Given the description of an element on the screen output the (x, y) to click on. 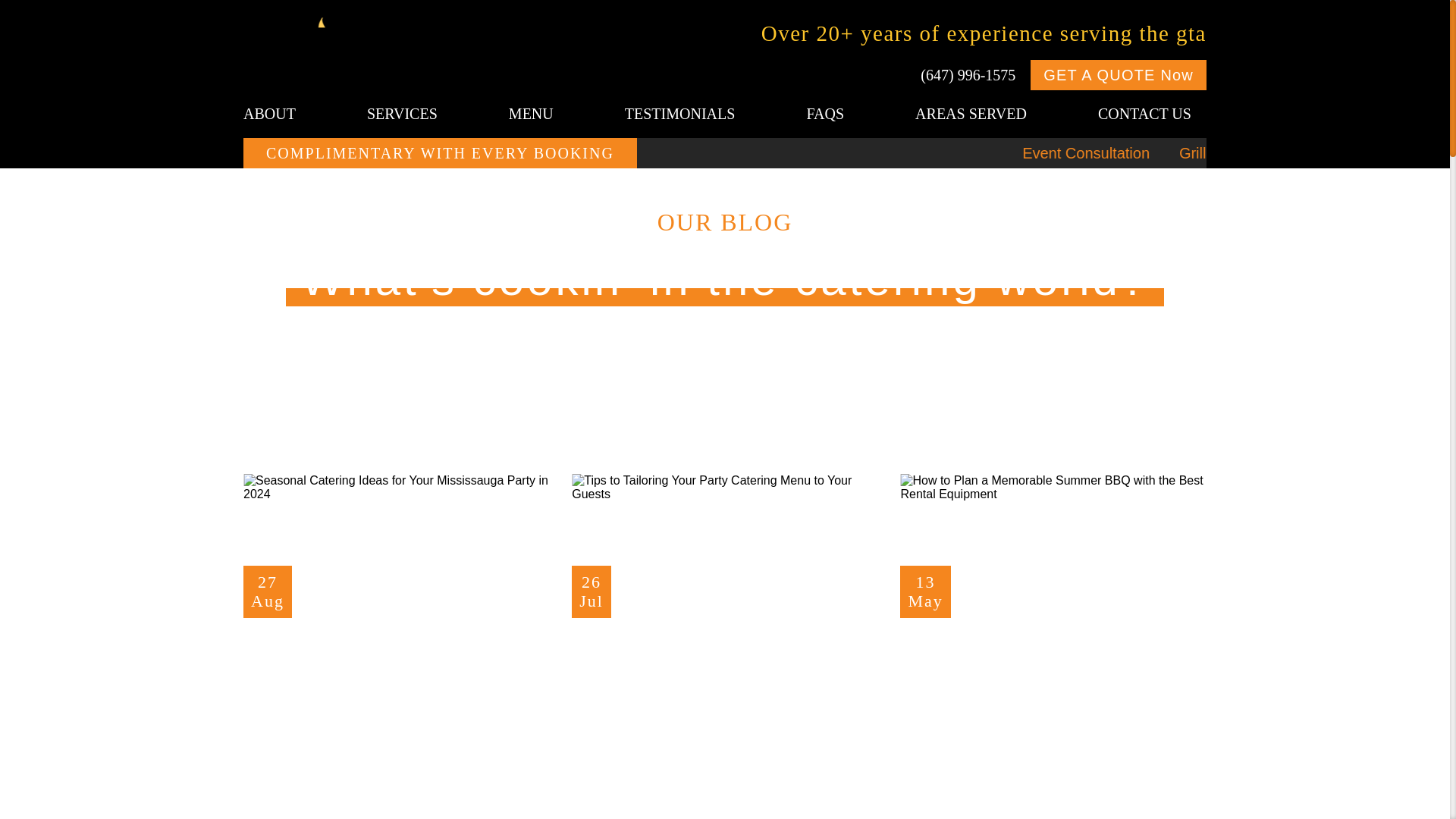
ABOUT (277, 113)
Seasonal Catering Ideas for Your Mississauga Party in 2024 (395, 657)
MENU (531, 113)
TESTIMONIALS (680, 113)
GET A QUOTE Now (395, 487)
Tips to Tailoring Your Party Catering Menu to Your Guests (1118, 74)
AREAS SERVED (724, 657)
CONTACT US (970, 113)
